Given the description of an element on the screen output the (x, y) to click on. 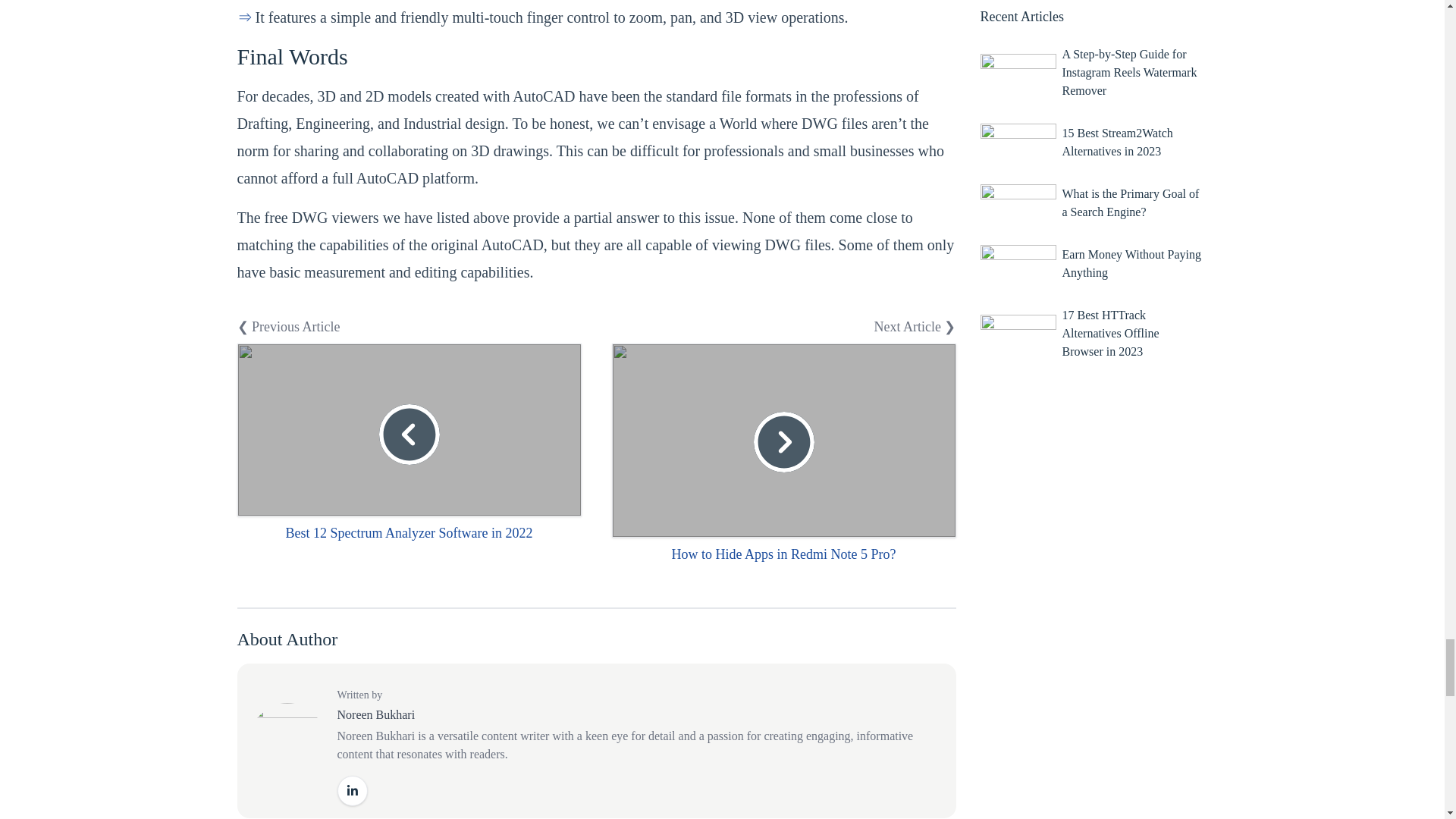
Best 12 Spectrum Analyzer Software in 2022 (408, 532)
Noreen Bukhari (375, 714)
How to Hide Apps in Redmi Note 5 Pro? (783, 554)
